Given the description of an element on the screen output the (x, y) to click on. 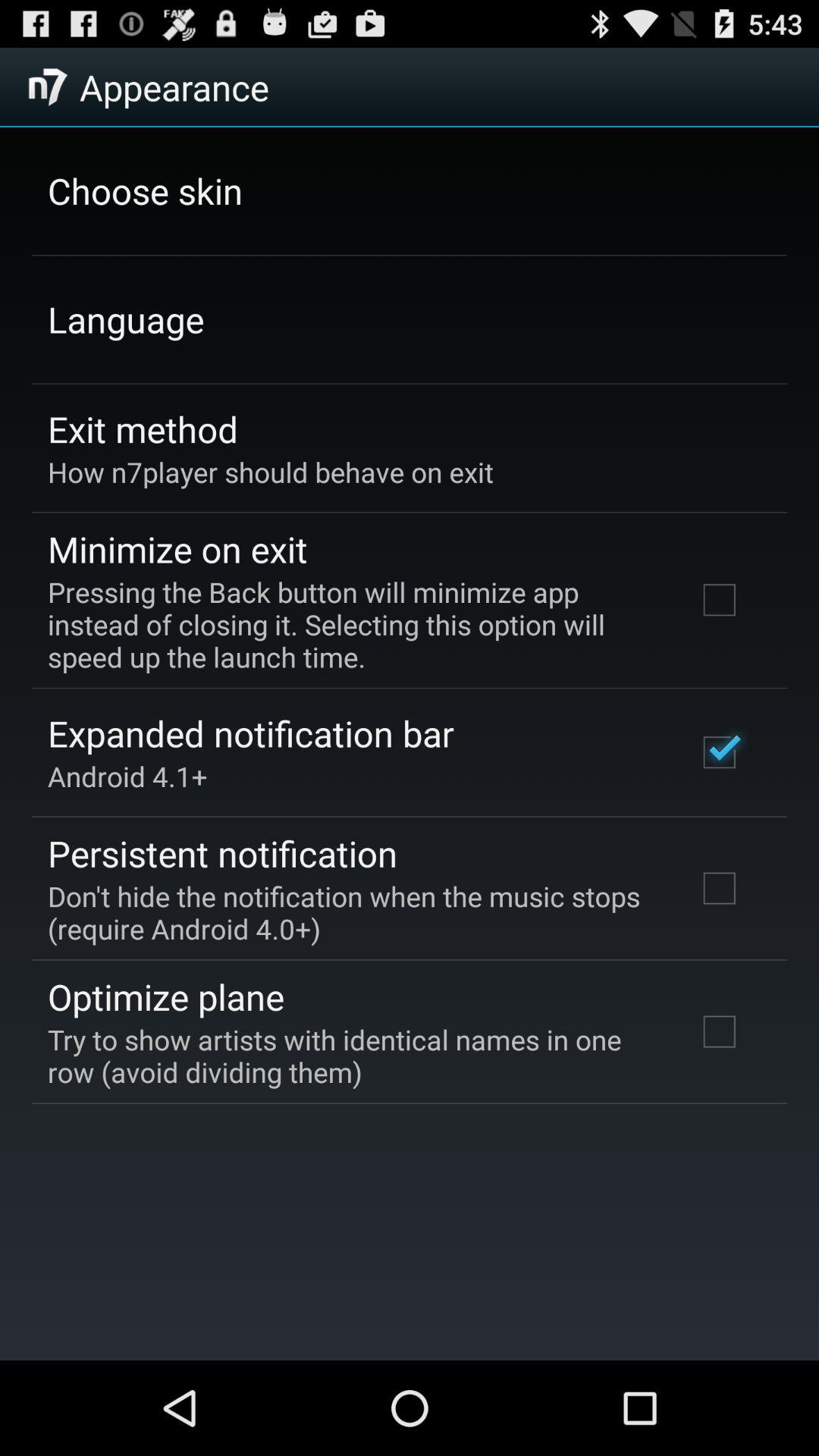
tap the how n7player should app (270, 471)
